Given the description of an element on the screen output the (x, y) to click on. 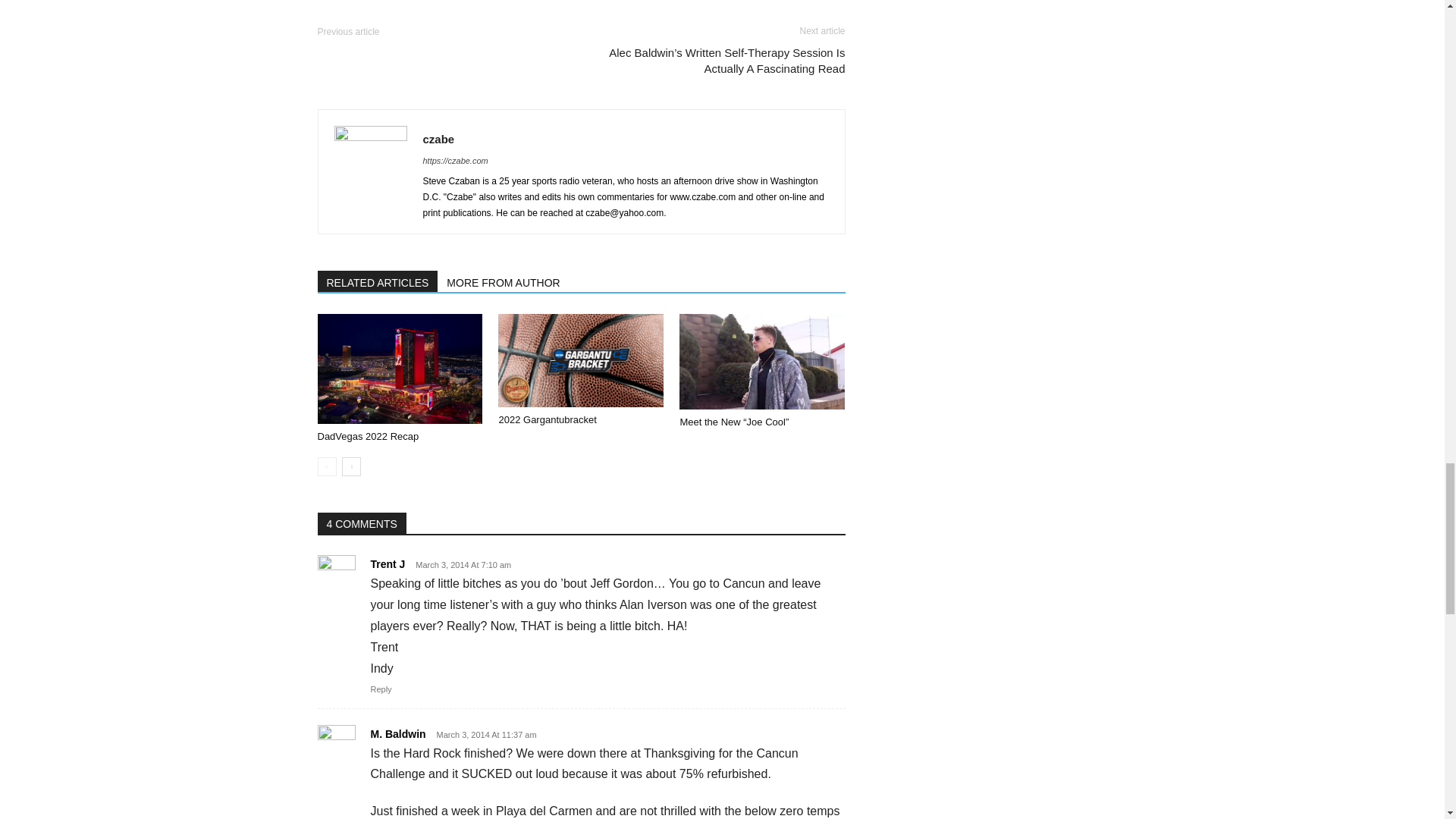
DadVegas 2022 Recap (399, 368)
